Given the description of an element on the screen output the (x, y) to click on. 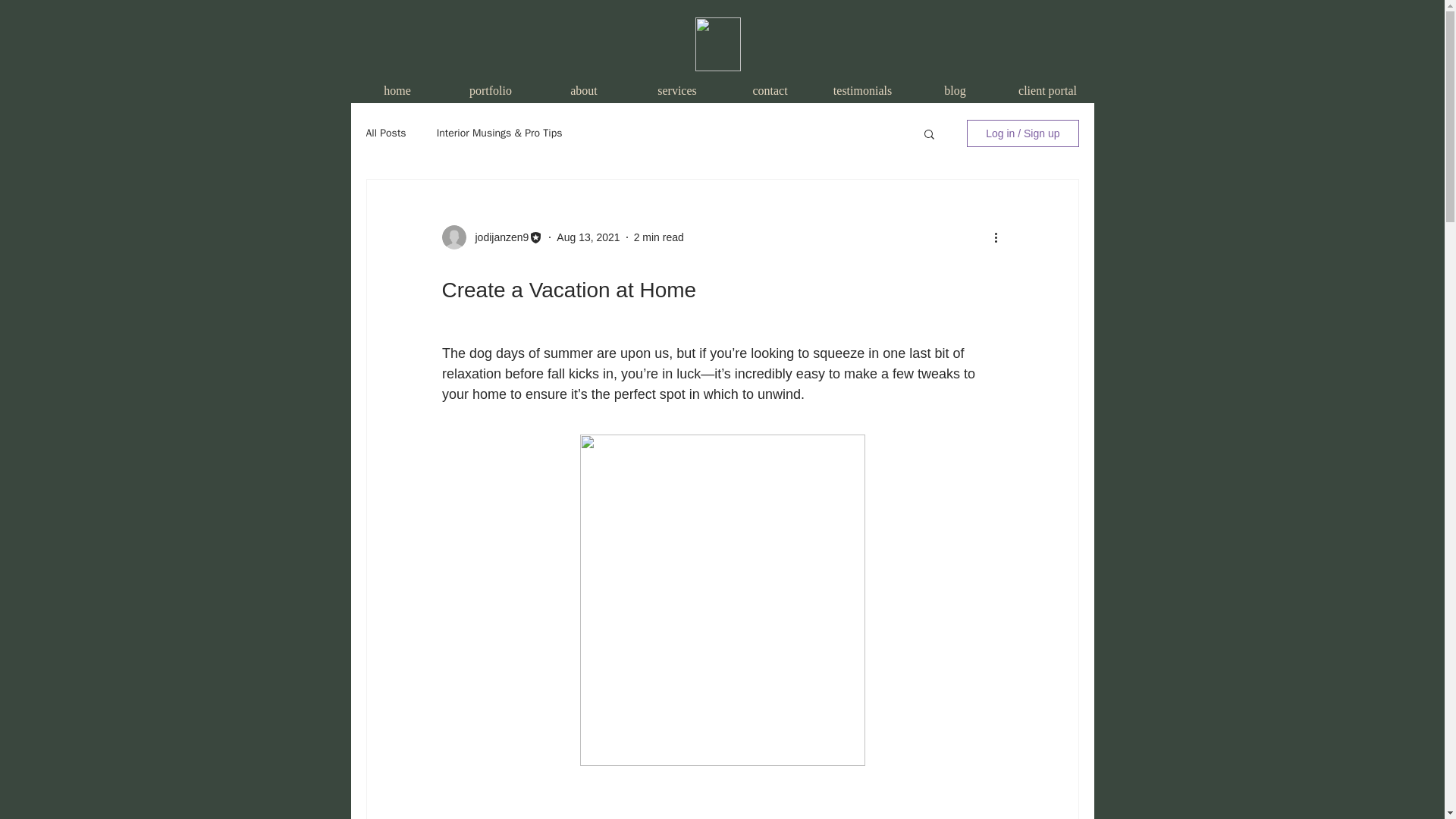
home (397, 90)
blog (954, 90)
contact (769, 90)
services (676, 90)
about (583, 90)
portfolio (490, 90)
All Posts (385, 133)
jodijanzen9 (496, 236)
testimonials (861, 90)
2 min read (658, 236)
